Given the description of an element on the screen output the (x, y) to click on. 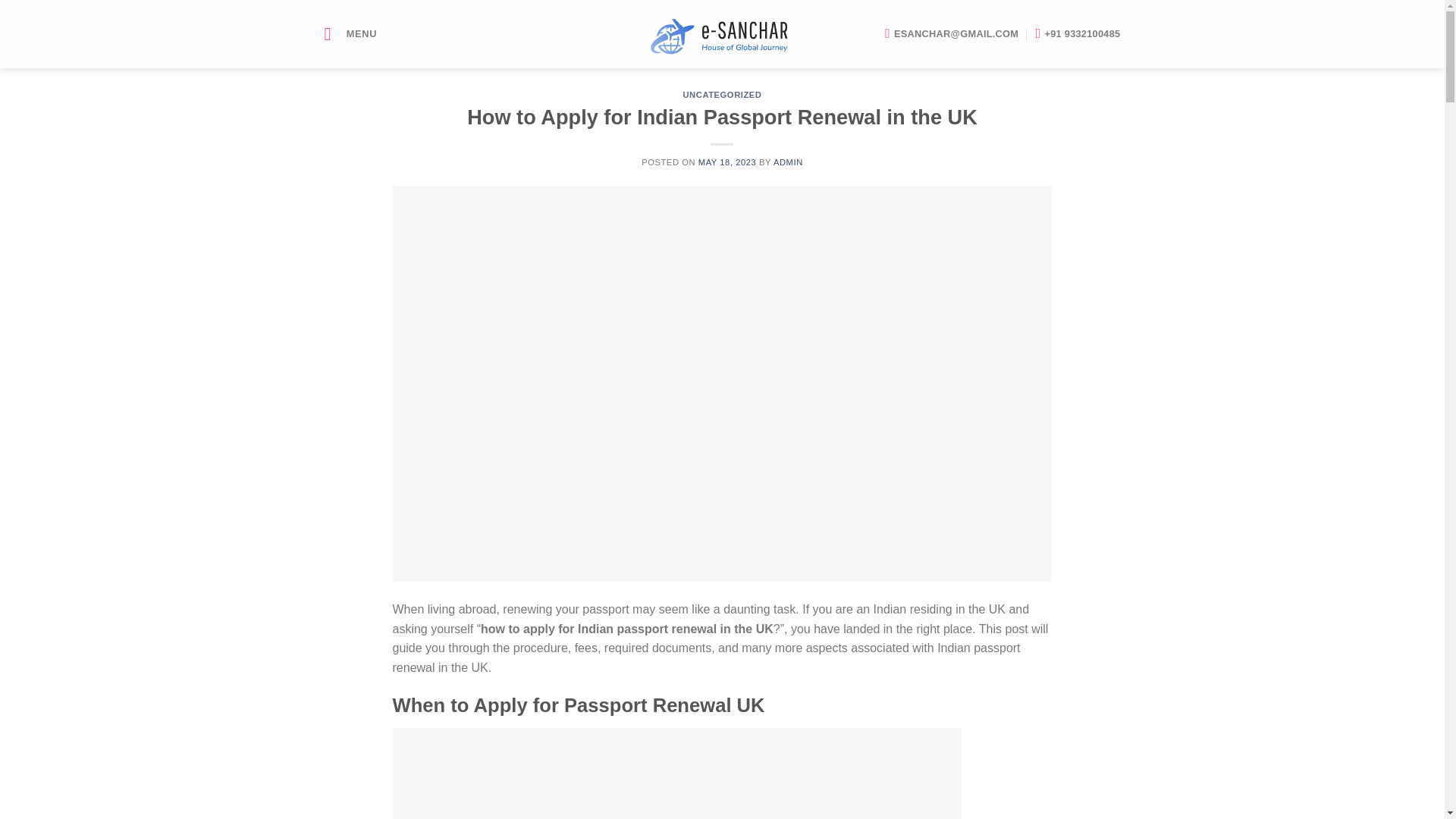
ADMIN (788, 162)
UNCATEGORIZED (721, 94)
MAY 18, 2023 (727, 162)
MENU (350, 33)
E Sanchar (721, 33)
